Given the description of an element on the screen output the (x, y) to click on. 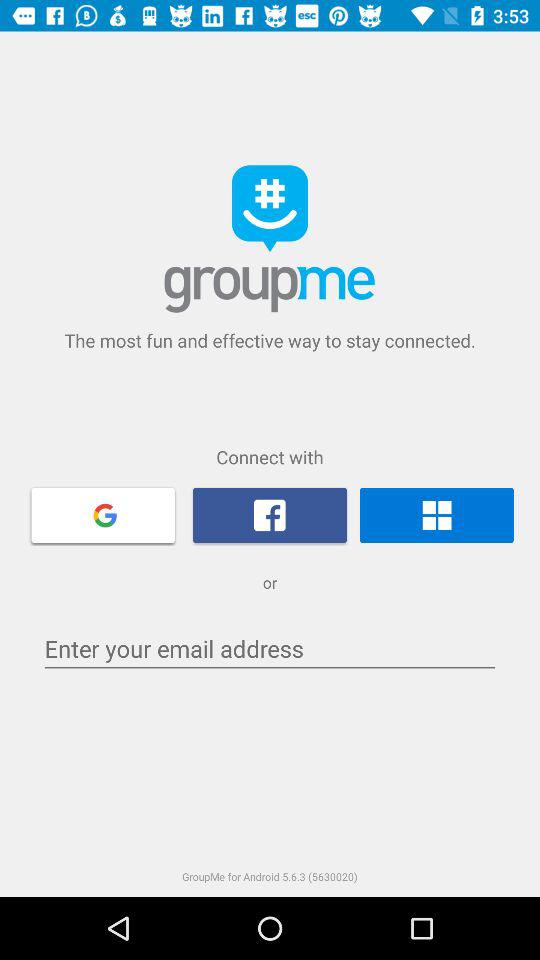
press icon above the or icon (436, 515)
